Given the description of an element on the screen output the (x, y) to click on. 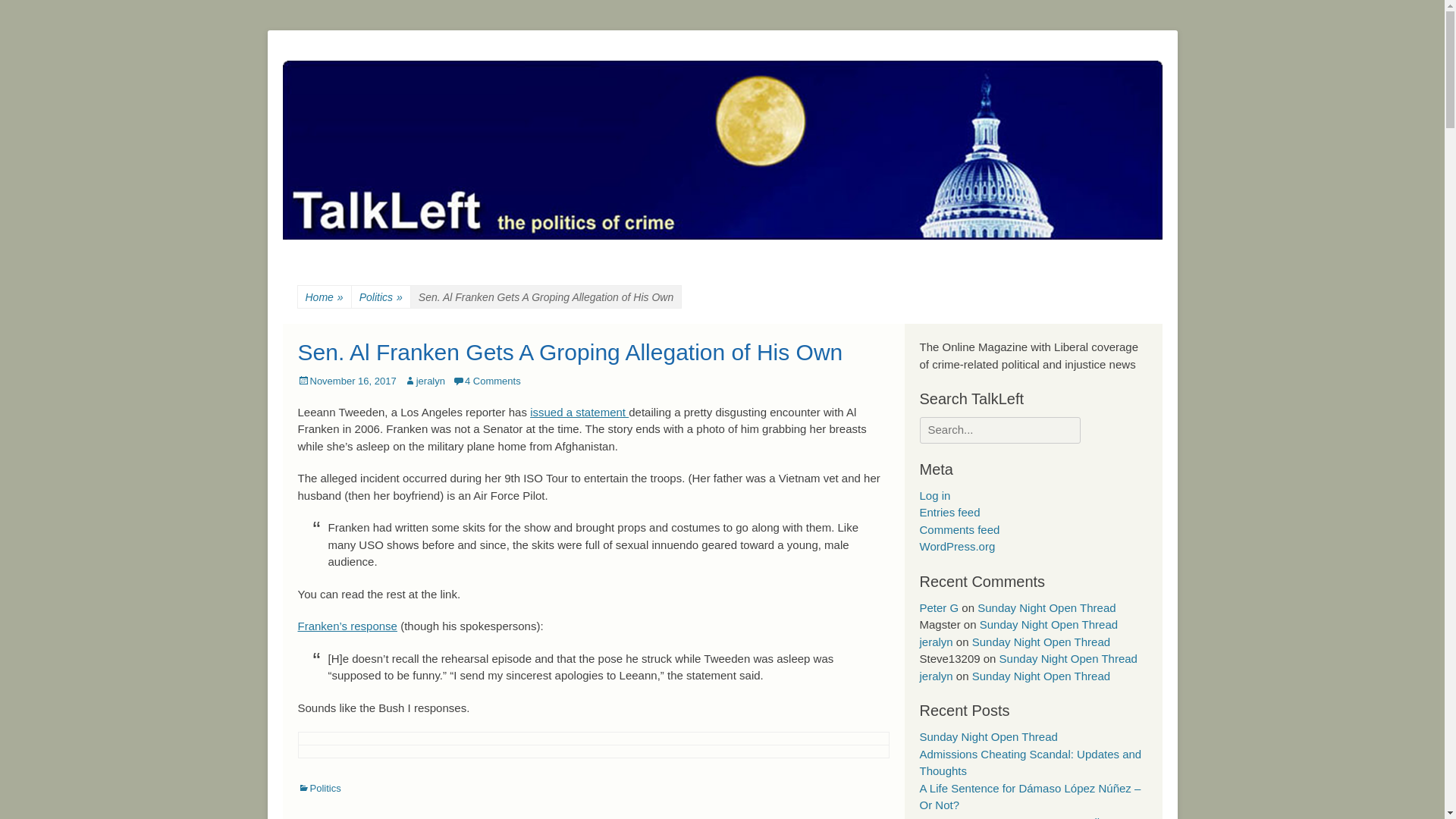
Sunday Night Open Thread (1048, 624)
Admissions Cheating Scandal: Updates and Thoughts (1029, 762)
jeralyn (935, 641)
Comments feed (958, 529)
WordPress.org (956, 545)
jeralyn (424, 380)
Politics (318, 787)
Peter G (938, 607)
issued a statement (578, 411)
November 16, 2017 (346, 380)
Log in (934, 495)
4 Comments (486, 380)
jeralyn (935, 675)
Sunday Night Open Thread (987, 736)
Sunday Night Open Thread (1045, 607)
